Given the description of an element on the screen output the (x, y) to click on. 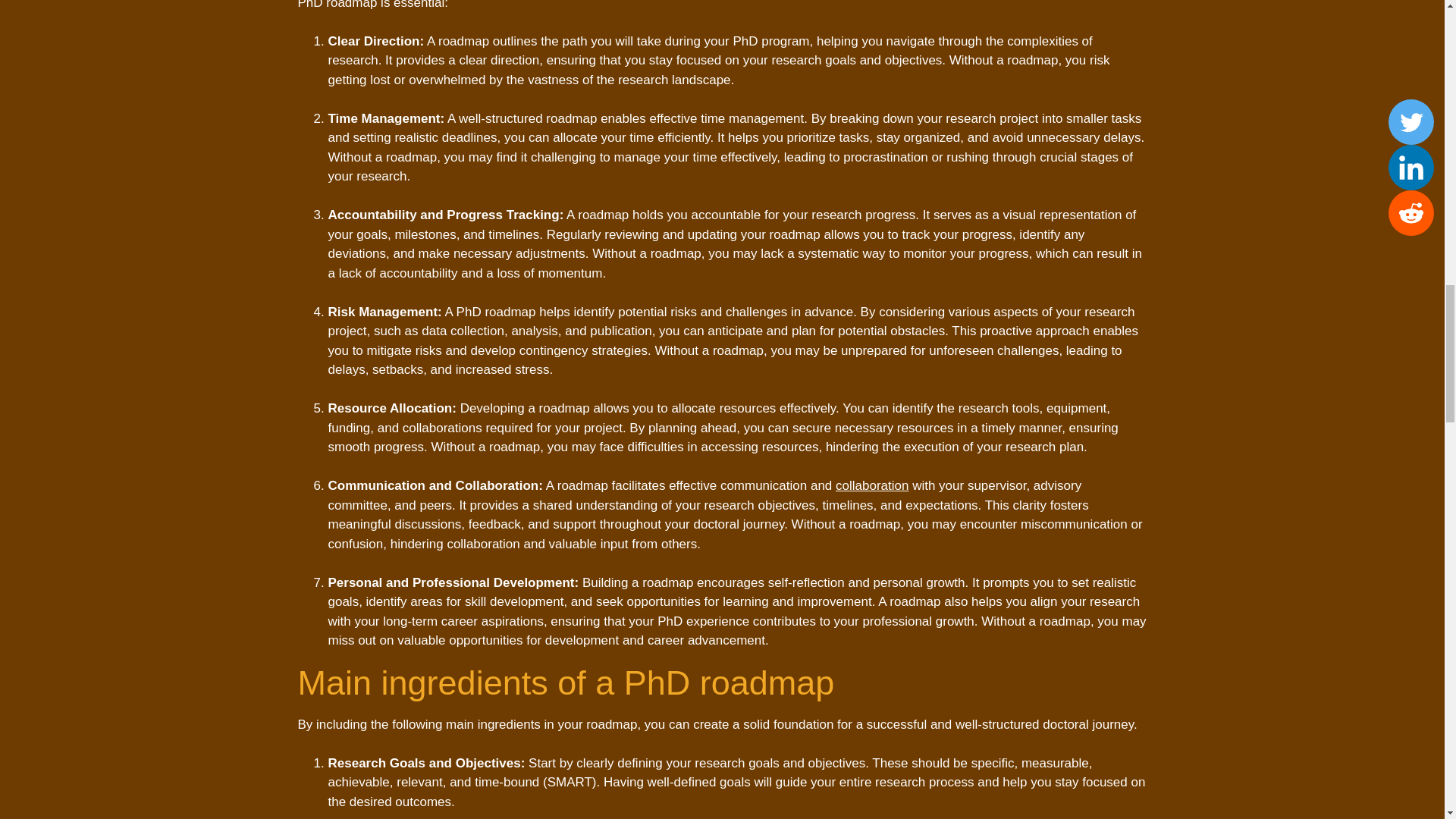
collaboration (871, 485)
